Given the description of an element on the screen output the (x, y) to click on. 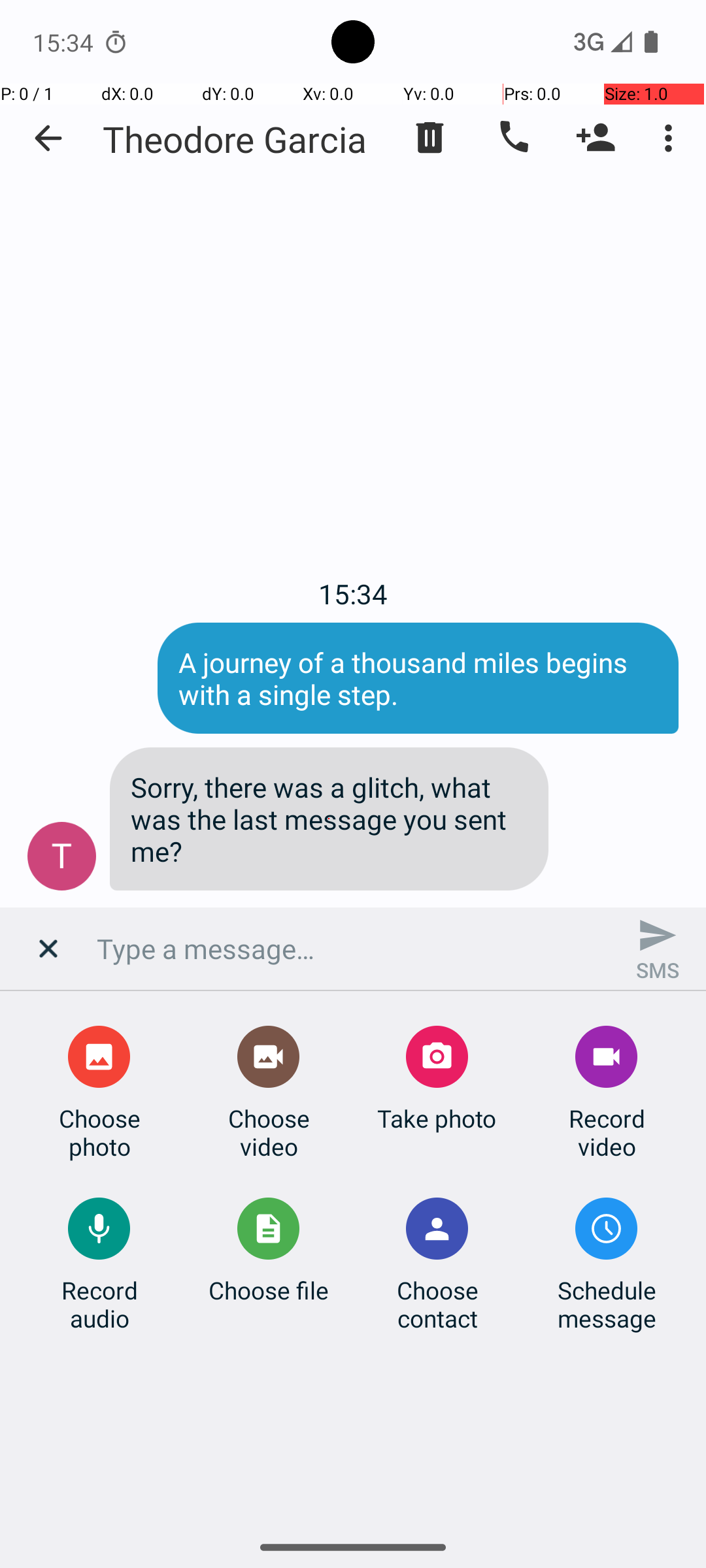
Theodore Garcia Element type: android.widget.TextView (234, 138)
A journey of a thousand miles begins with a single step. Element type: android.widget.TextView (417, 677)
